Given the description of an element on the screen output the (x, y) to click on. 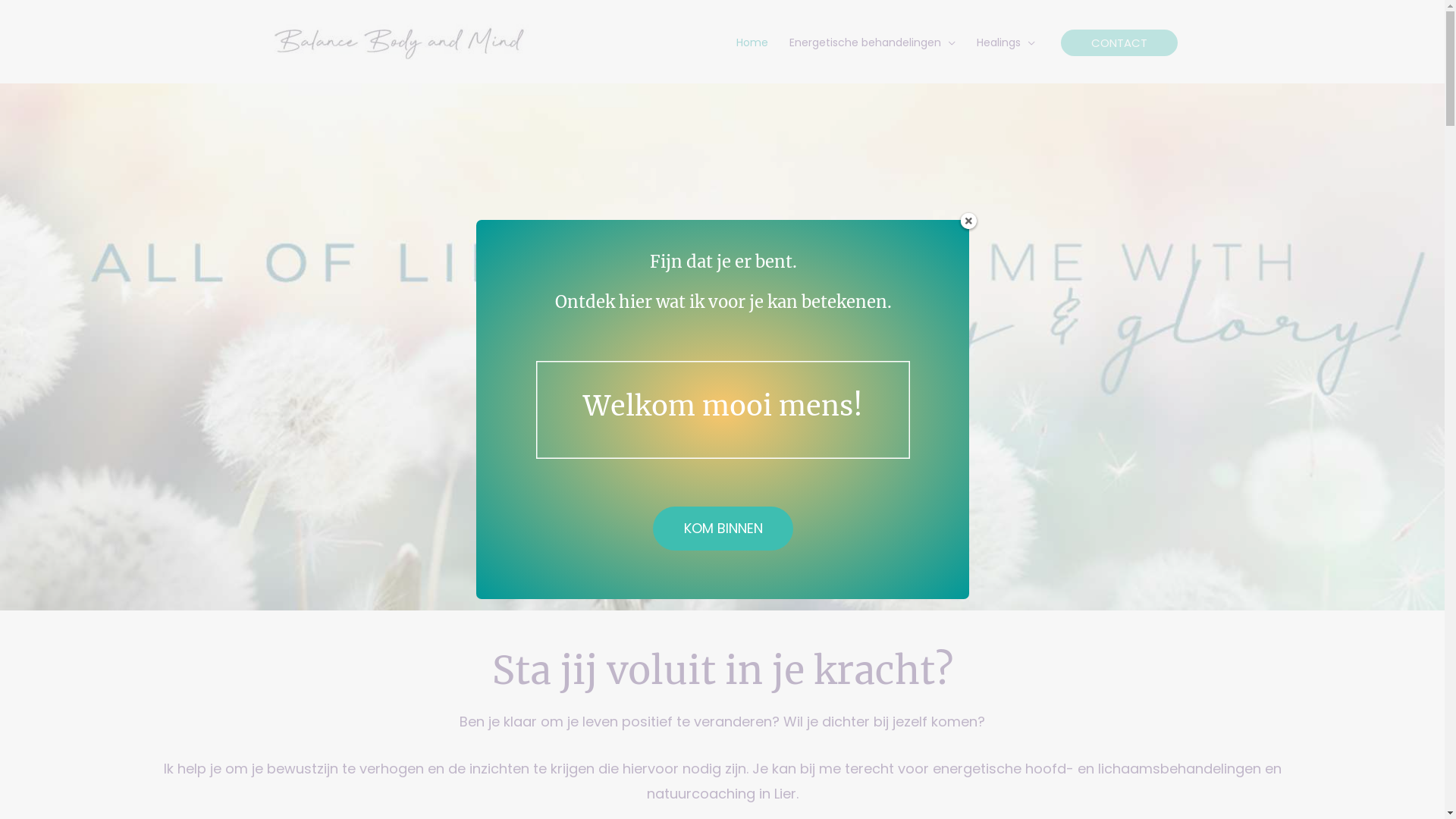
Healings Element type: text (1005, 42)
Home Element type: text (751, 42)
Energetische behandelingen Element type: text (871, 42)
CONTACT Element type: text (1118, 41)
KOM BINNEN Element type: text (722, 528)
